Given the description of an element on the screen output the (x, y) to click on. 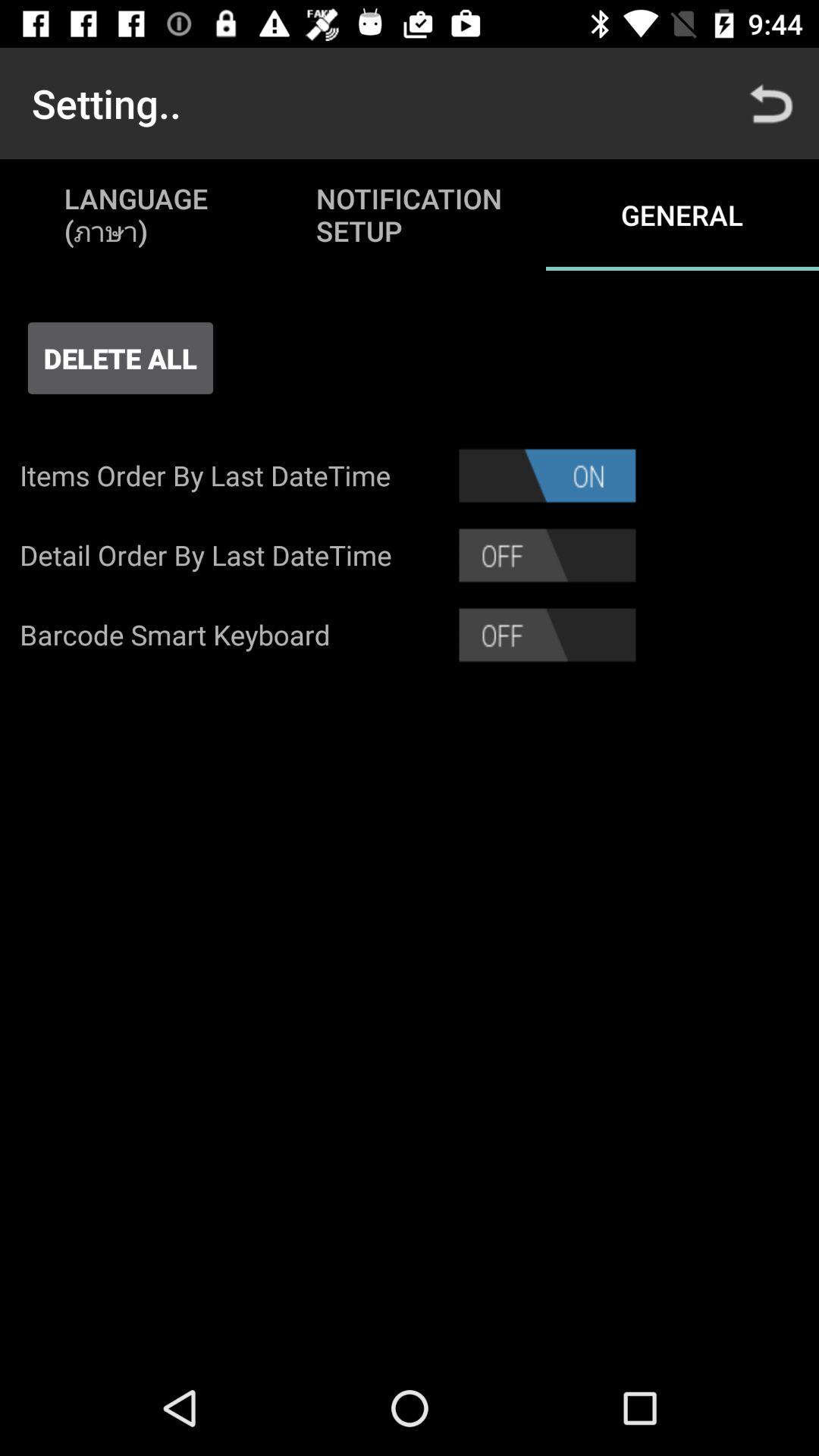
launch the app to the right of the notification
setup app (771, 103)
